Given the description of an element on the screen output the (x, y) to click on. 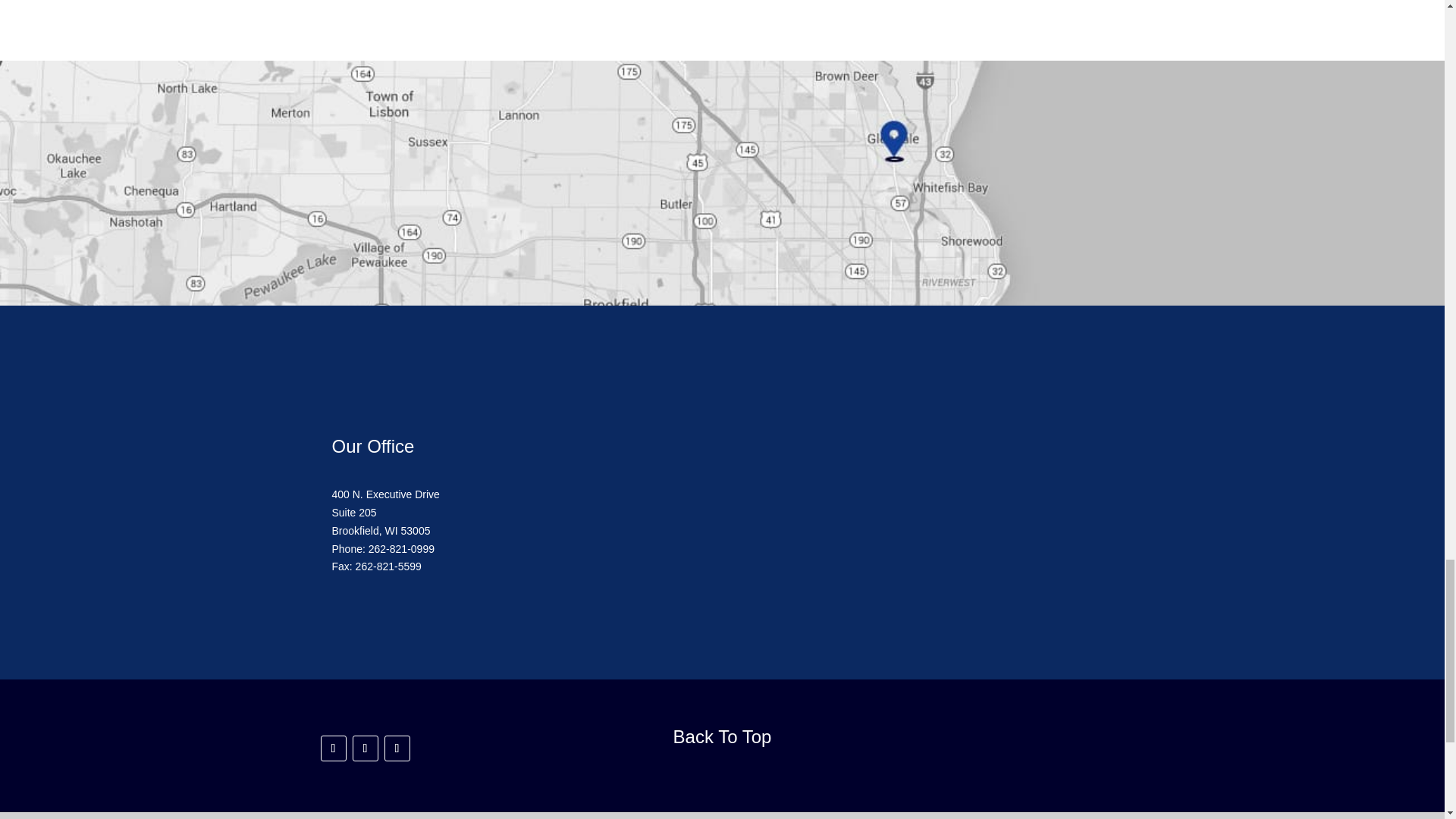
Follow on LinkedIn (364, 748)
Follow on Facebook (333, 748)
Follow on X (396, 748)
